Given the description of an element on the screen output the (x, y) to click on. 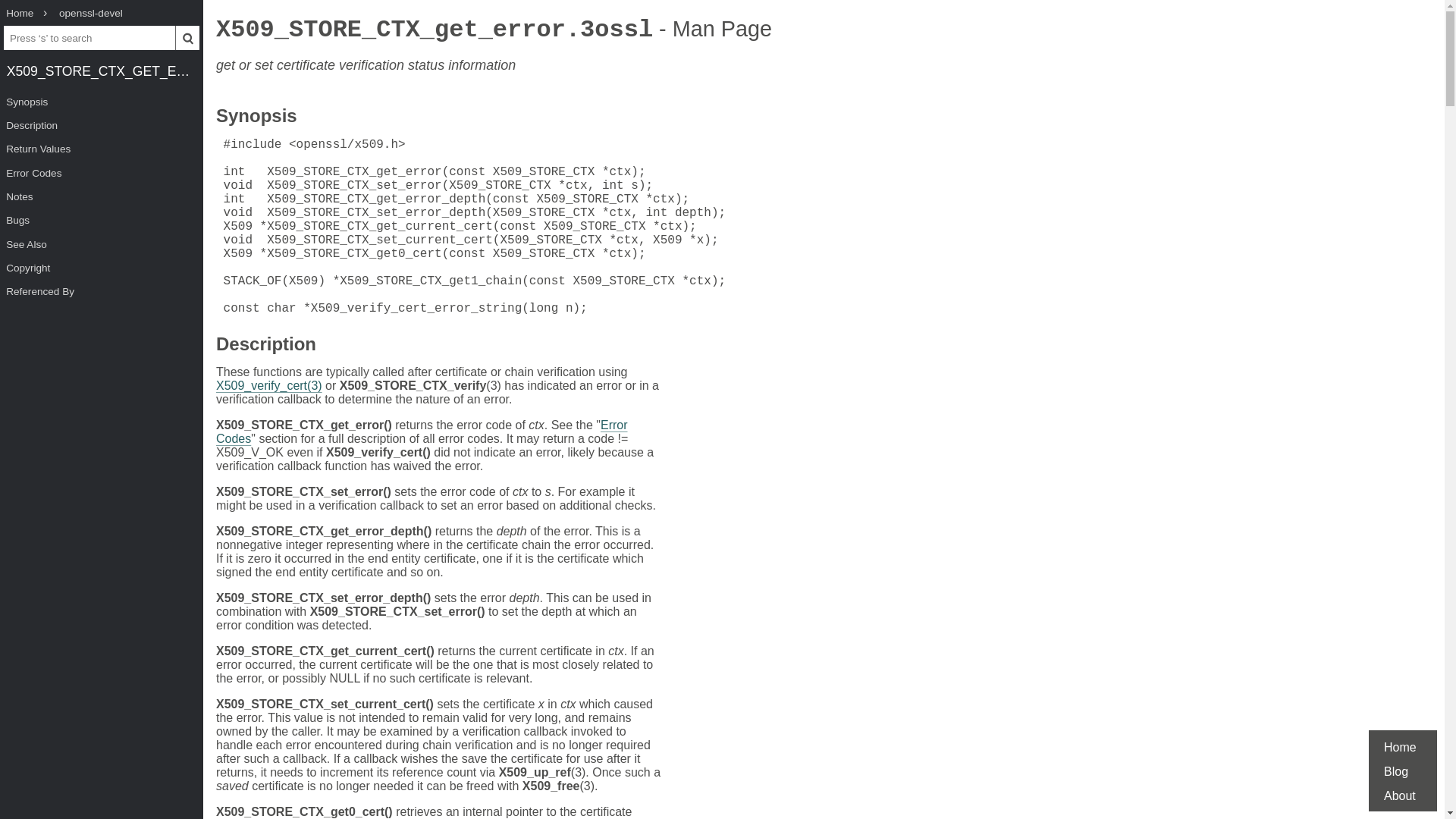
See Also (101, 244)
Synopsis (256, 117)
Copyright (101, 268)
Referenced By (101, 291)
Error Codes (101, 173)
About (1399, 795)
Bugs (101, 219)
openssl-devel (90, 13)
Error Codes (421, 431)
Home (1400, 747)
